Given the description of an element on the screen output the (x, y) to click on. 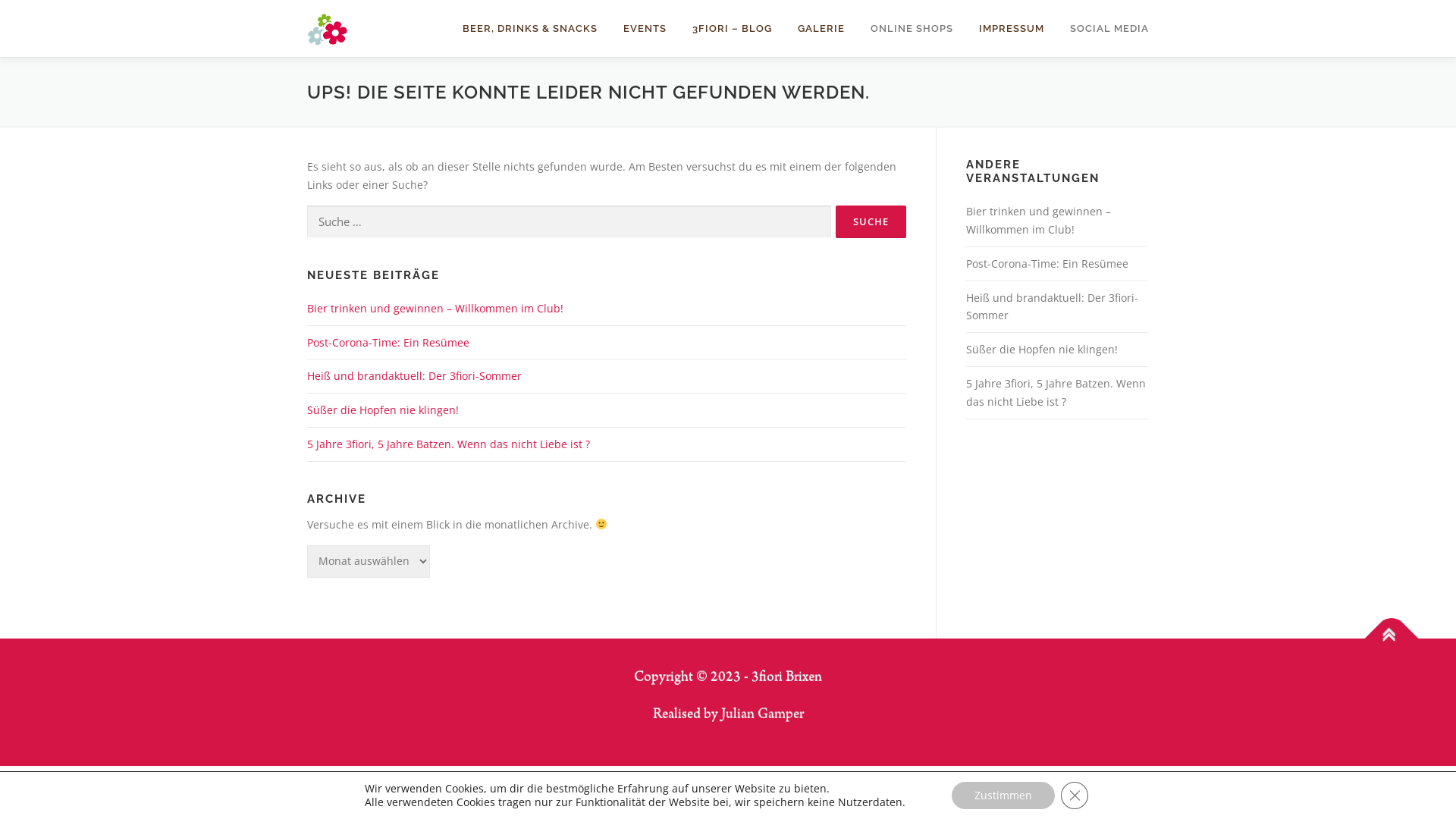
IMPRESSUM Element type: text (1011, 28)
ONLINE SHOPS Element type: text (911, 28)
Julian Gamper Element type: text (761, 714)
Nach Oben Element type: hover (1383, 630)
5 Jahre 3fiori, 5 Jahre Batzen. Wenn das nicht Liebe ist ? Element type: text (448, 443)
EVENTS Element type: text (644, 28)
Zustimmen Element type: text (1002, 795)
GALERIE Element type: text (820, 28)
BEER, DRINKS & SNACKS Element type: text (529, 28)
5 Jahre 3fiori, 5 Jahre Batzen. Wenn das nicht Liebe ist ? Element type: text (1055, 392)
Suche Element type: text (870, 221)
SOCIAL MEDIA Element type: text (1102, 28)
